Given the description of an element on the screen output the (x, y) to click on. 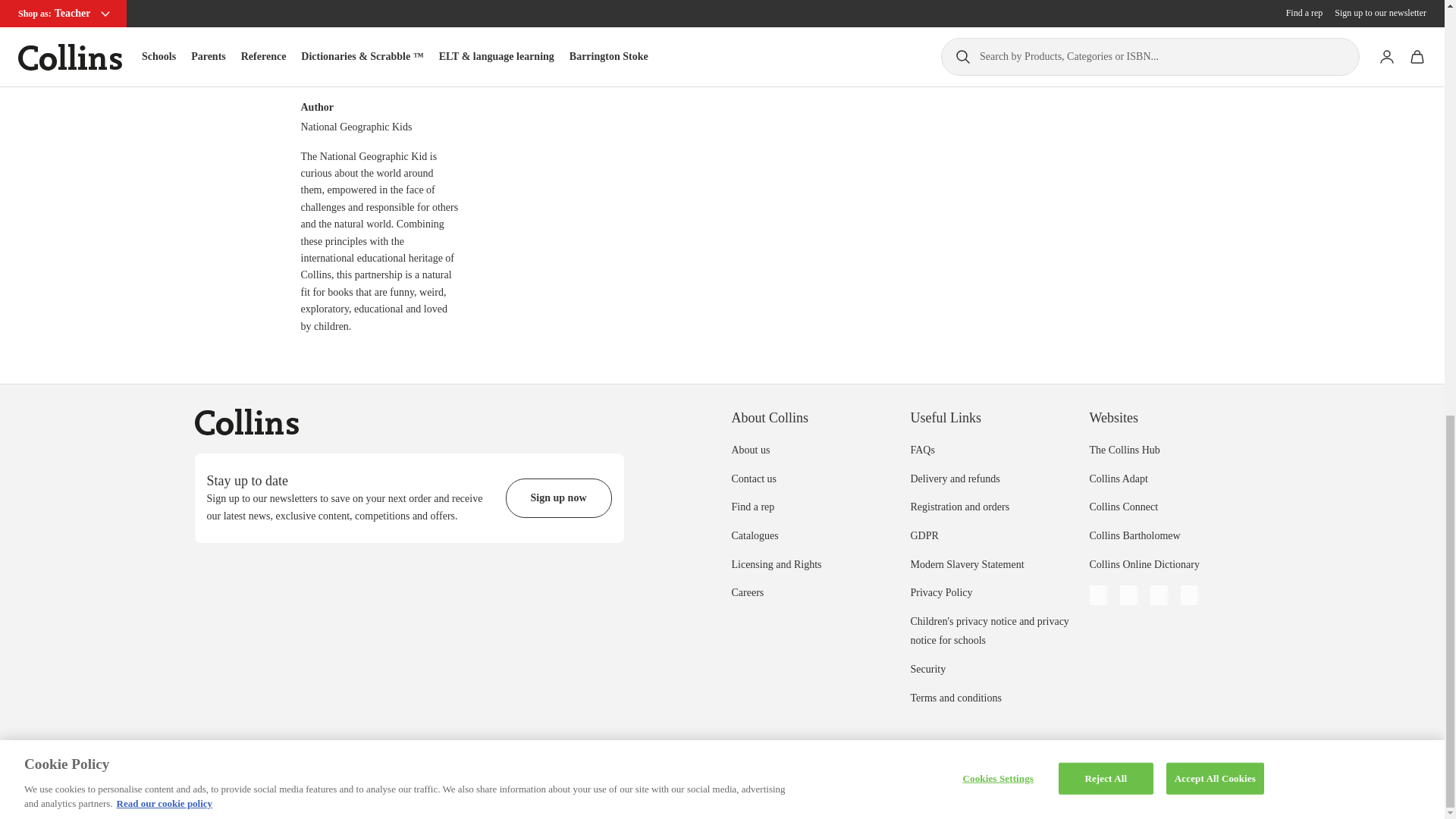
About us (750, 449)
Licensing and Rights (775, 564)
Find a rep (752, 506)
Catalogues (753, 535)
Sign up now (558, 497)
Contact us (753, 478)
